Given the description of an element on the screen output the (x, y) to click on. 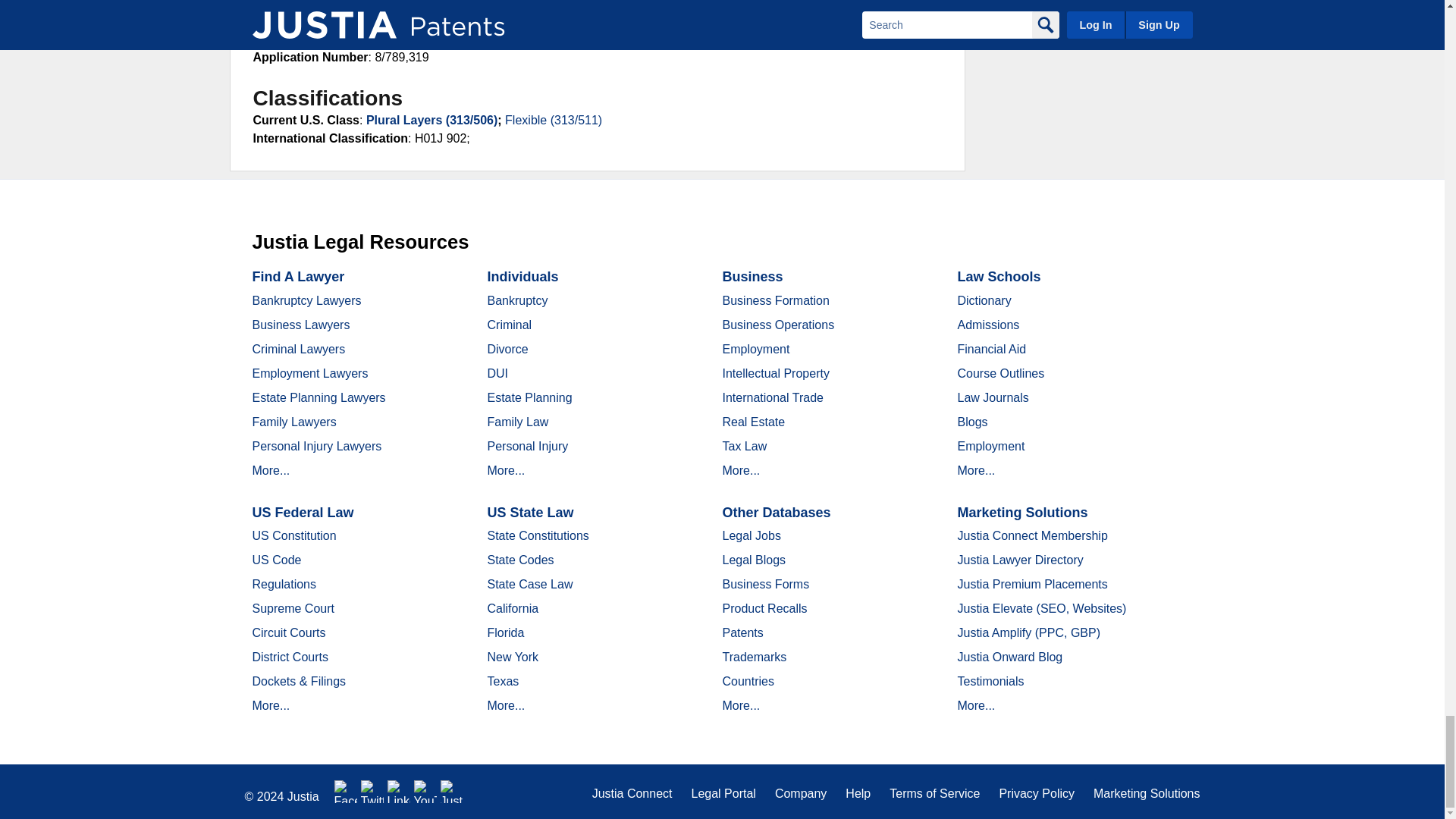
Justia Lawyer Directory (452, 791)
LinkedIn (398, 791)
Twitter (372, 791)
Facebook (345, 791)
YouTube (424, 791)
